Given the description of an element on the screen output the (x, y) to click on. 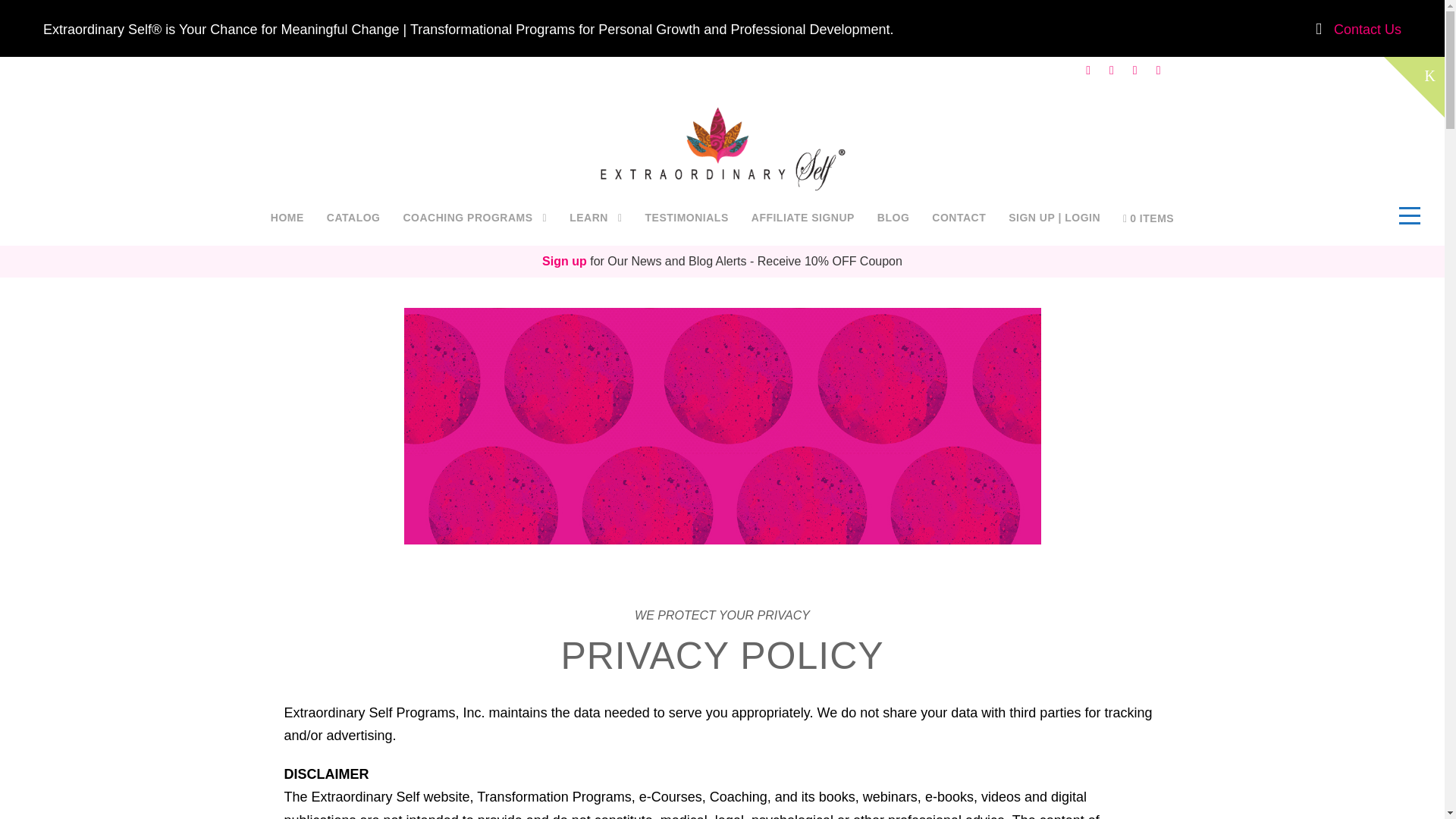
Start shopping (1147, 219)
